Given the description of an element on the screen output the (x, y) to click on. 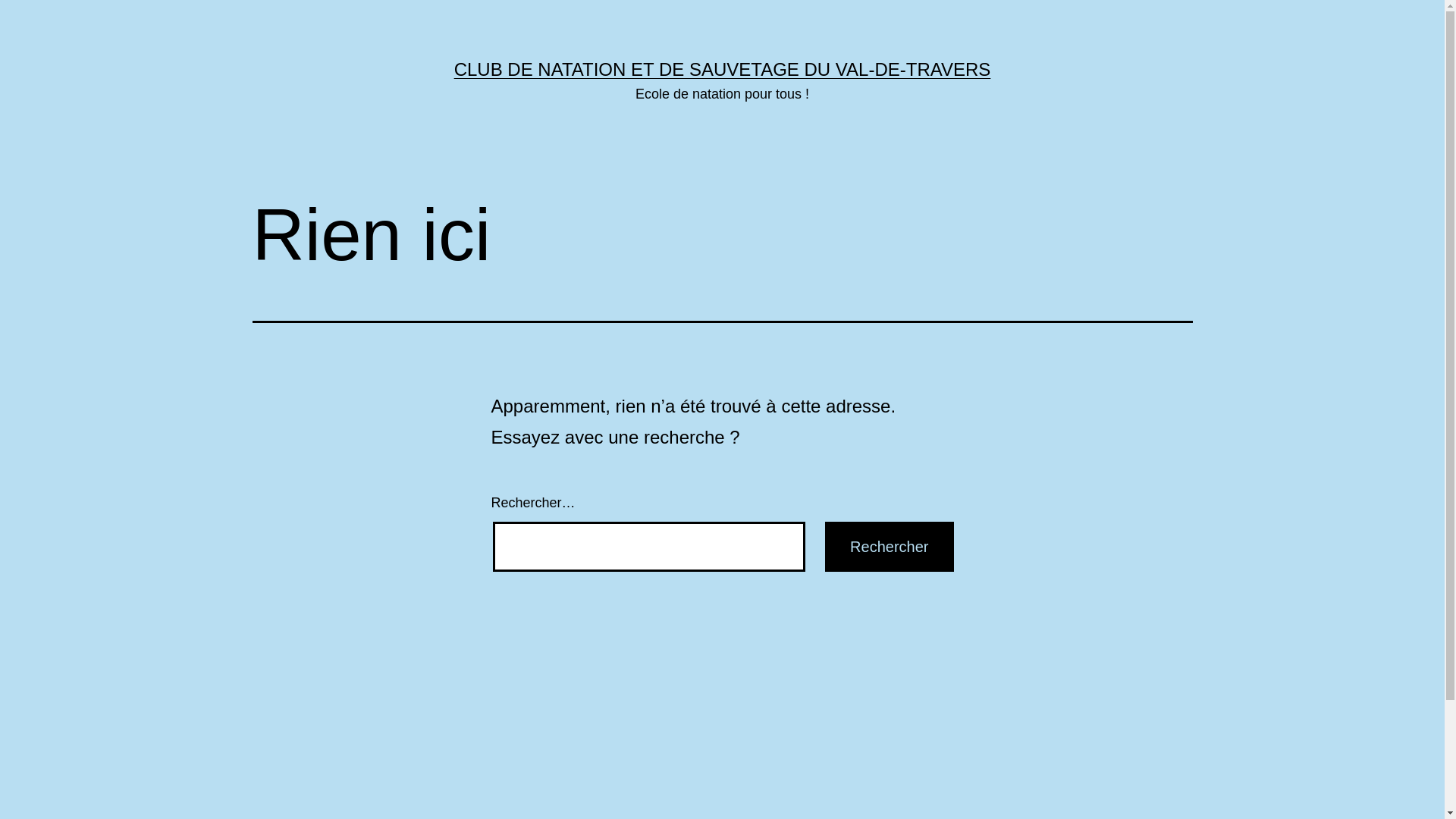
CLUB DE NATATION ET DE SAUVETAGE DU VAL-DE-TRAVERS Element type: text (722, 69)
Rechercher Element type: text (889, 546)
